Given the description of an element on the screen output the (x, y) to click on. 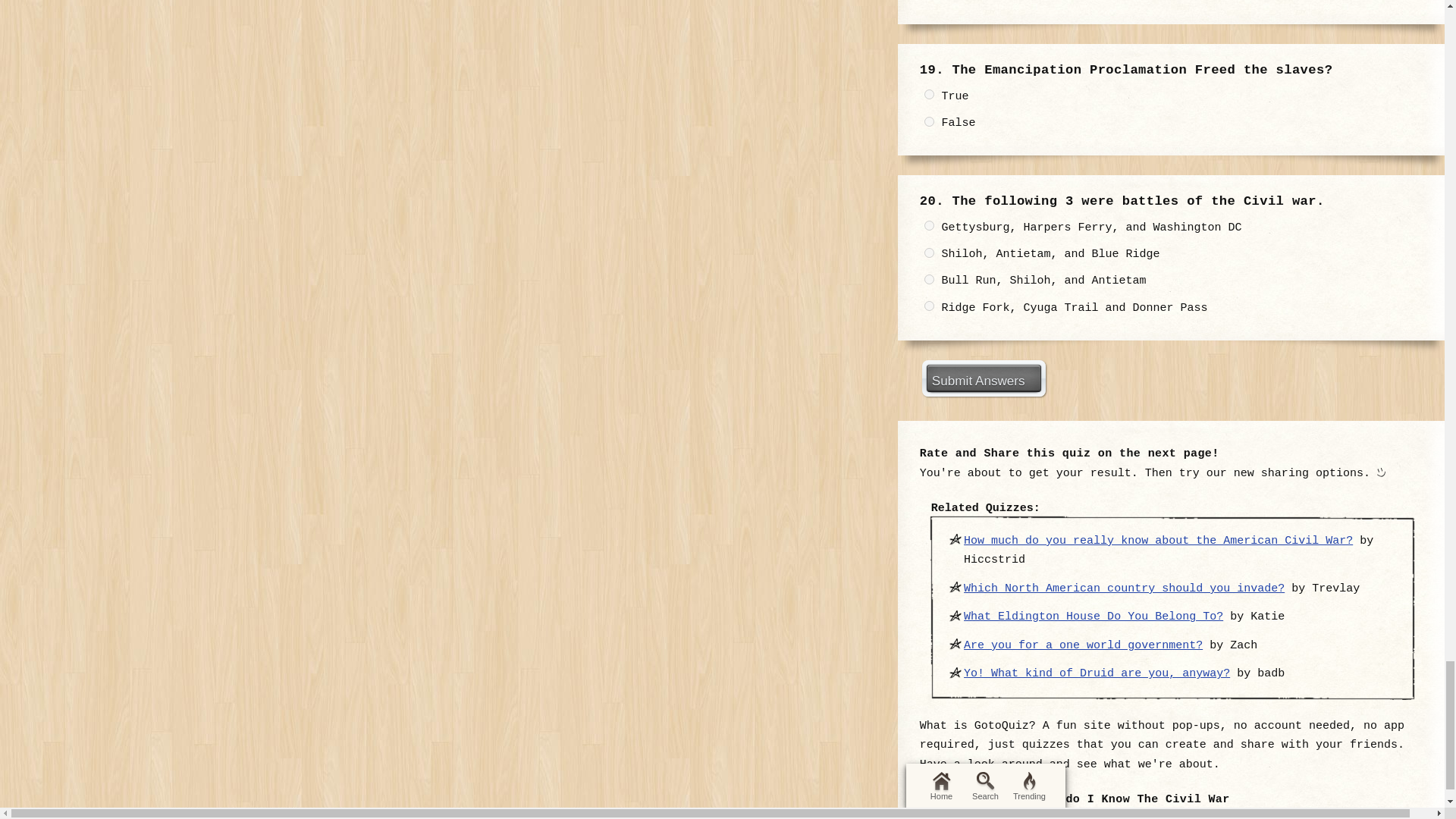
Are you for a one world government? (1082, 645)
Yo! What kind of Druid are you, anyway? (1096, 673)
Submit Answers (983, 378)
Which North American country should you invade? (1123, 588)
What Eldington House Do You Belong To? (1093, 616)
How much do you really know about the American Civil War? (1157, 540)
